Given the description of an element on the screen output the (x, y) to click on. 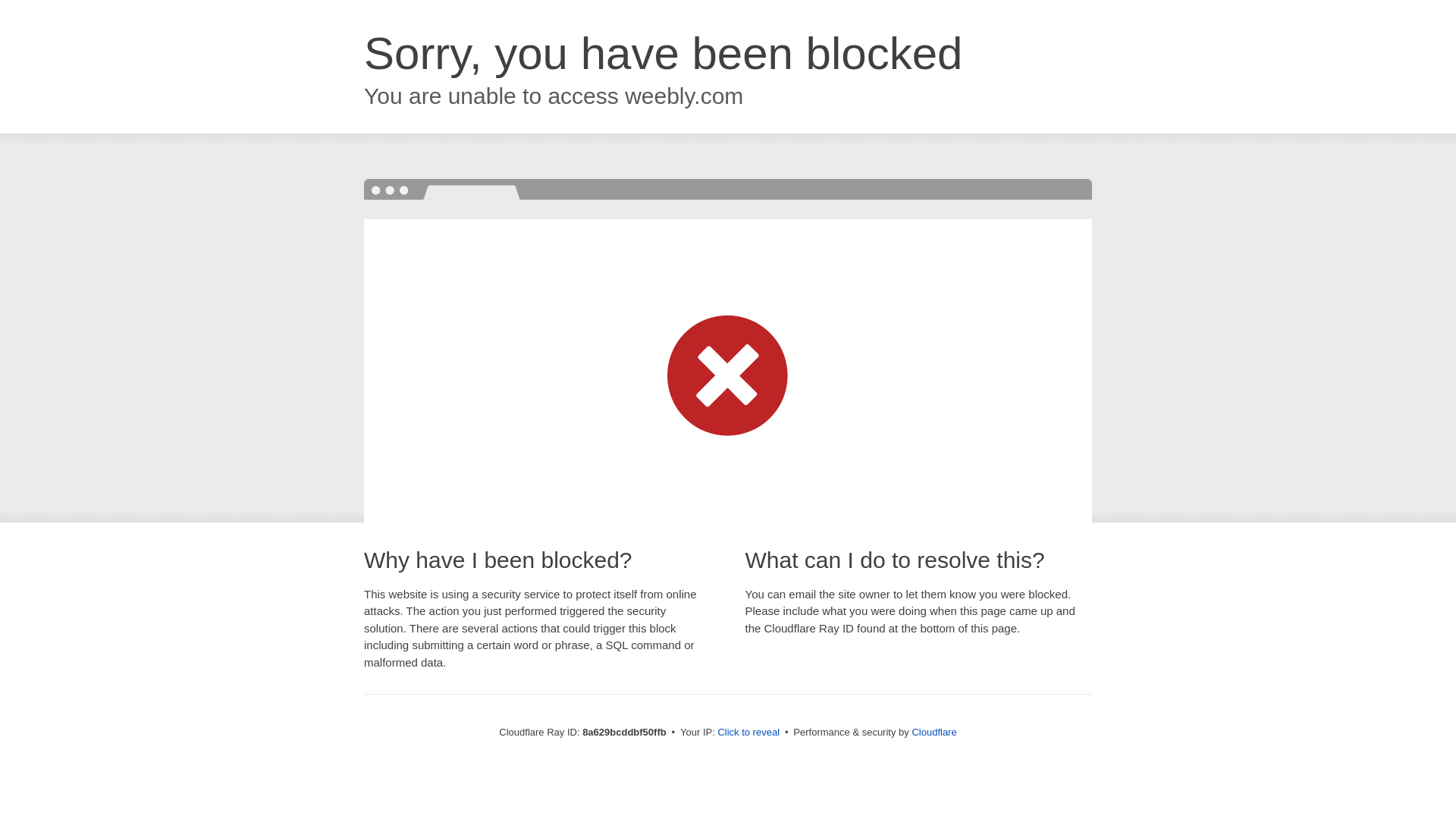
Cloudflare (933, 731)
Click to reveal (747, 732)
